Given the description of an element on the screen output the (x, y) to click on. 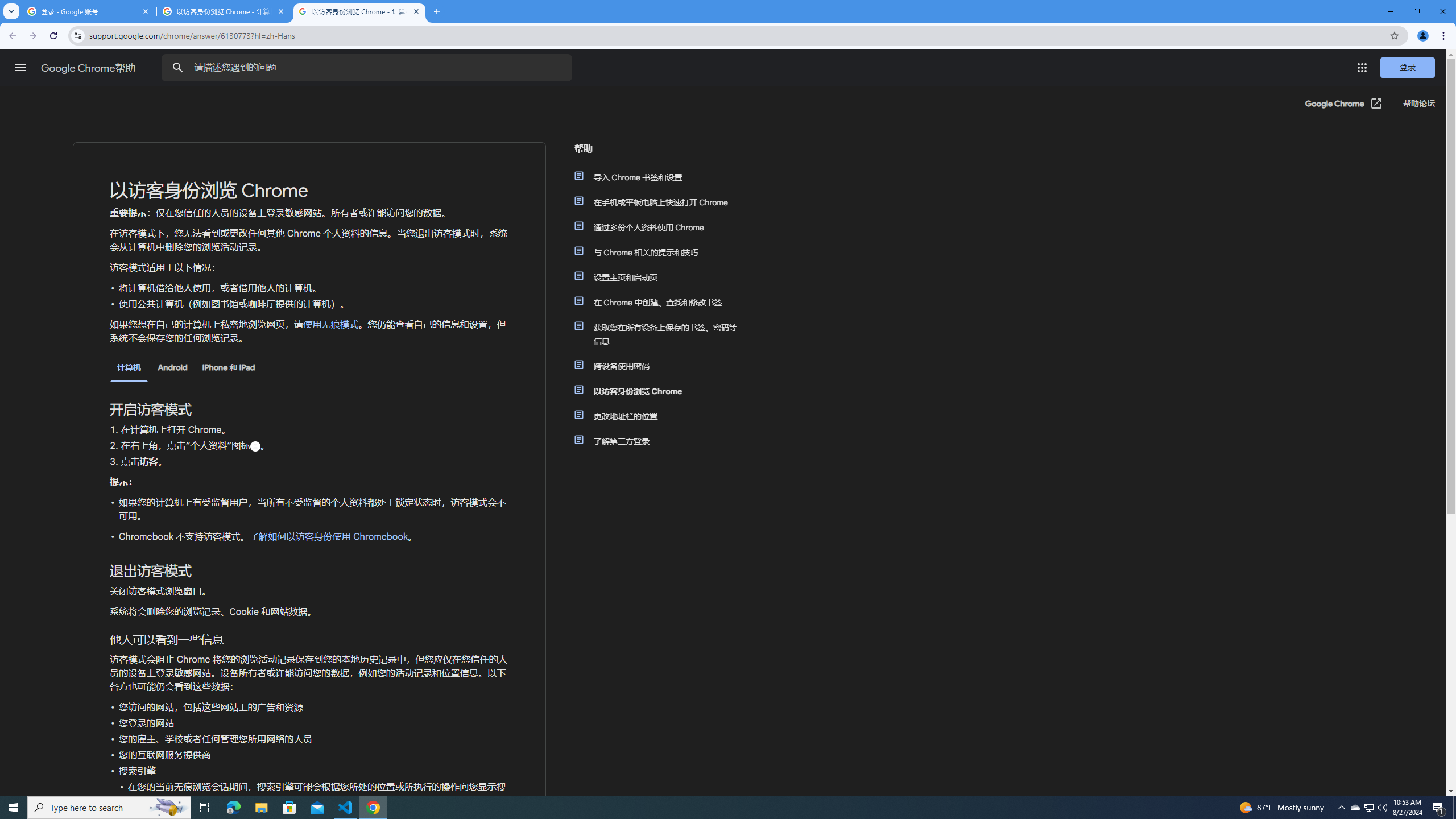
Android (172, 367)
